Given the description of an element on the screen output the (x, y) to click on. 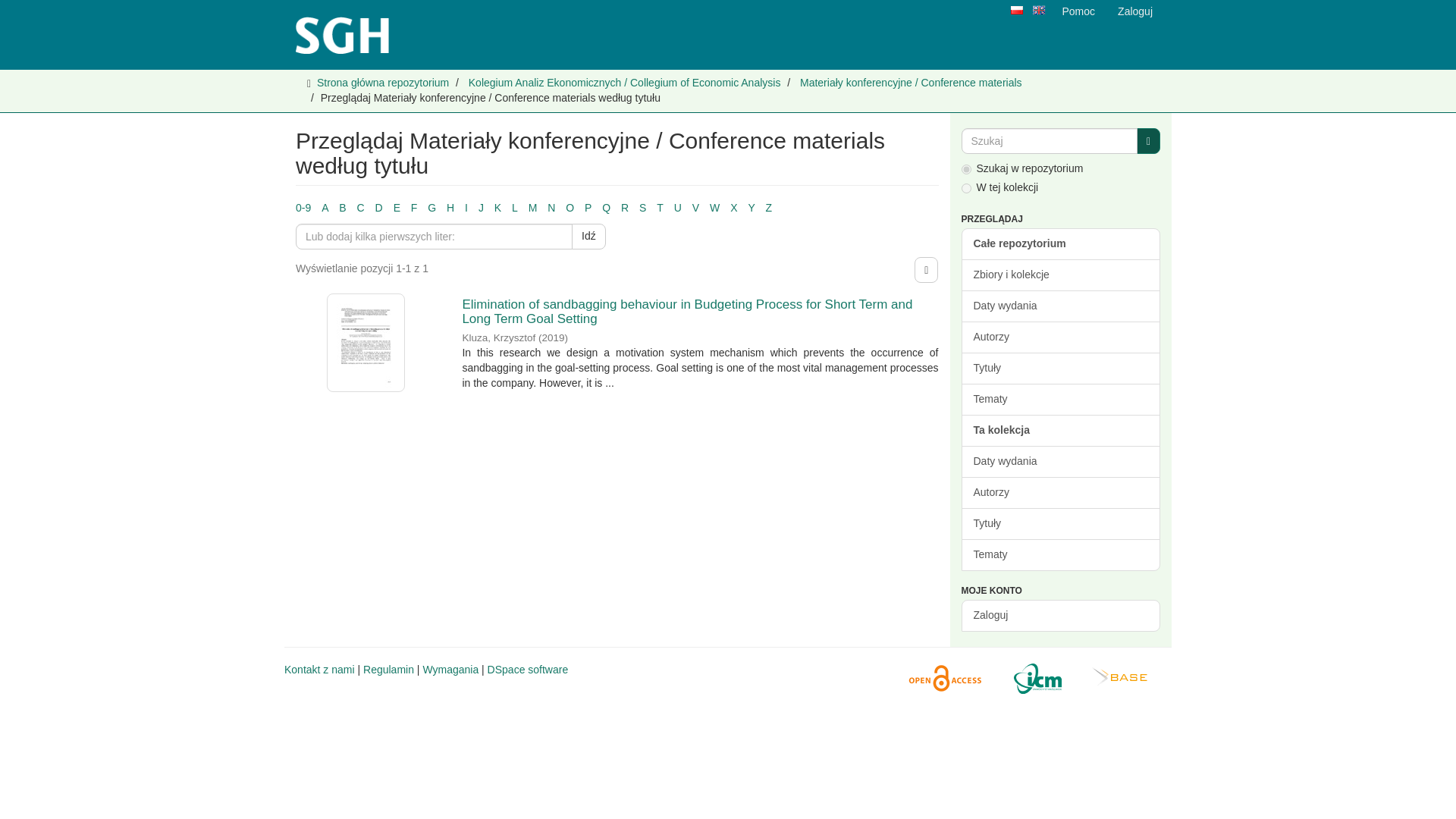
Pomoc (1078, 11)
ICM UW (1033, 679)
0-9 (303, 207)
BASE (1116, 679)
Polski (1016, 10)
Angielski (1038, 10)
Polski (1016, 9)
Angielski (1037, 9)
Zaloguj (1134, 11)
OPEN ACCESS (941, 679)
